Given the description of an element on the screen output the (x, y) to click on. 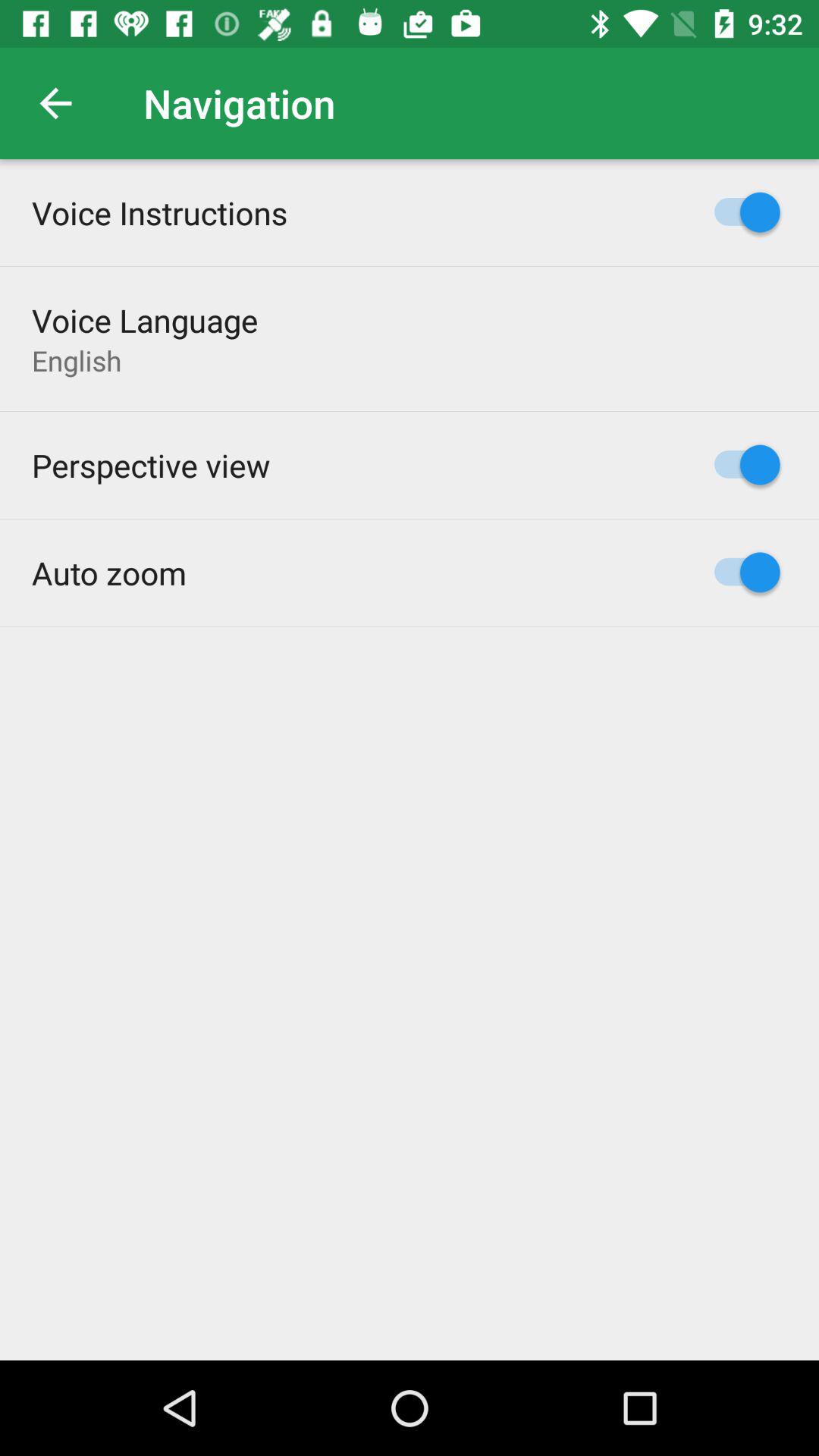
click item above the auto zoom item (150, 464)
